Given the description of an element on the screen output the (x, y) to click on. 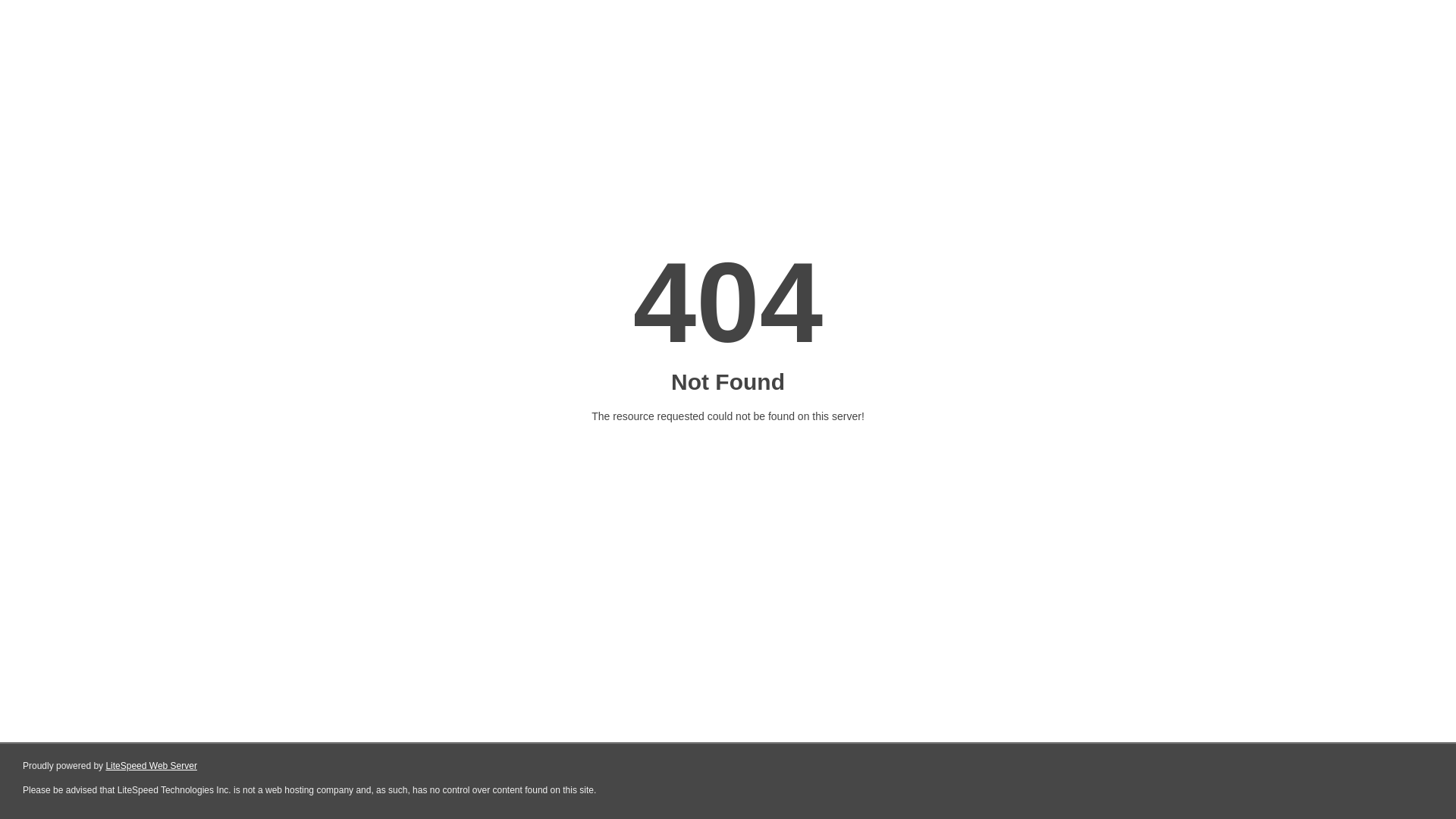
LiteSpeed Web Server Element type: text (151, 765)
